Given the description of an element on the screen output the (x, y) to click on. 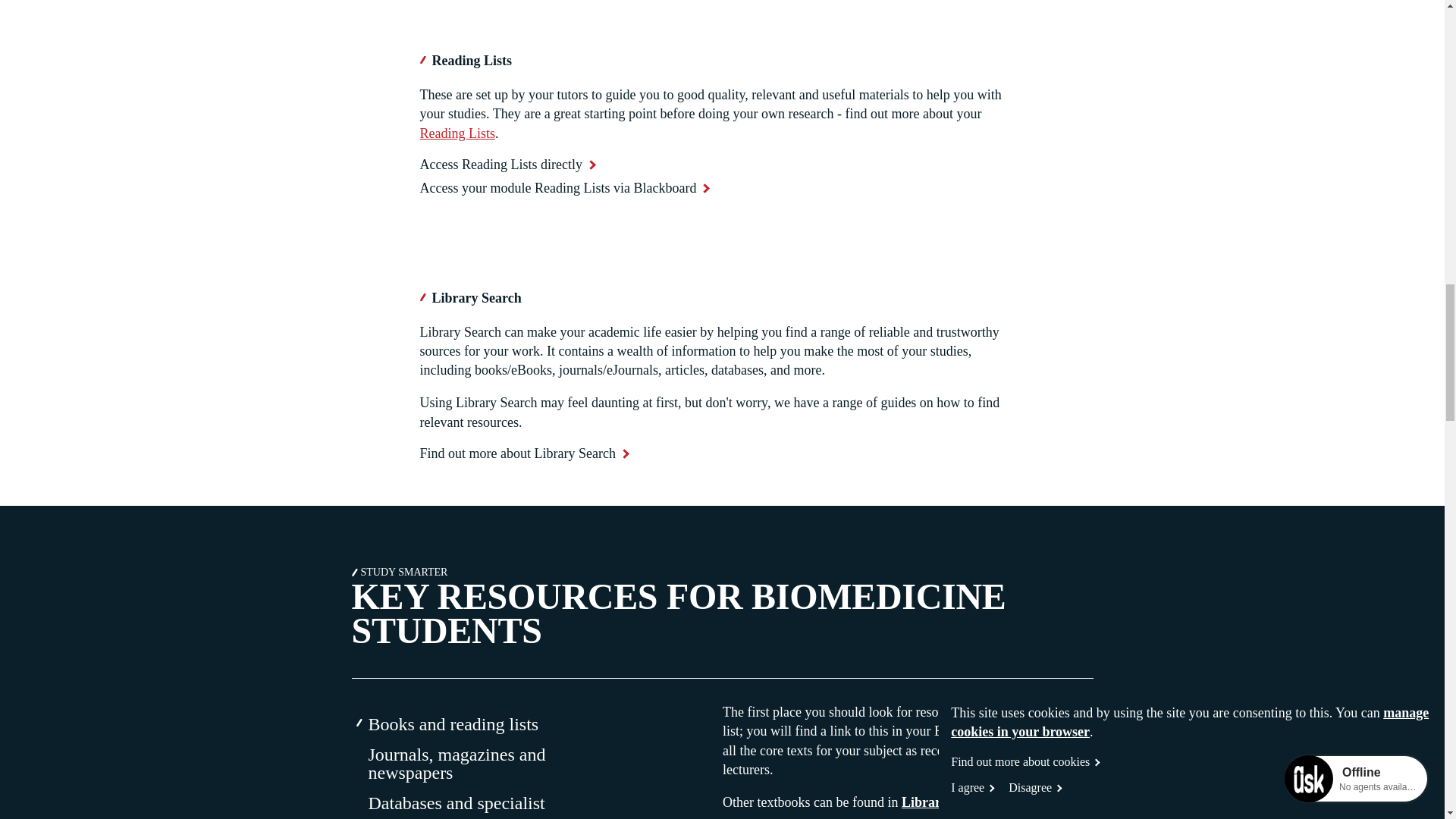
Reading Lists - Students (458, 133)
